Given the description of an element on the screen output the (x, y) to click on. 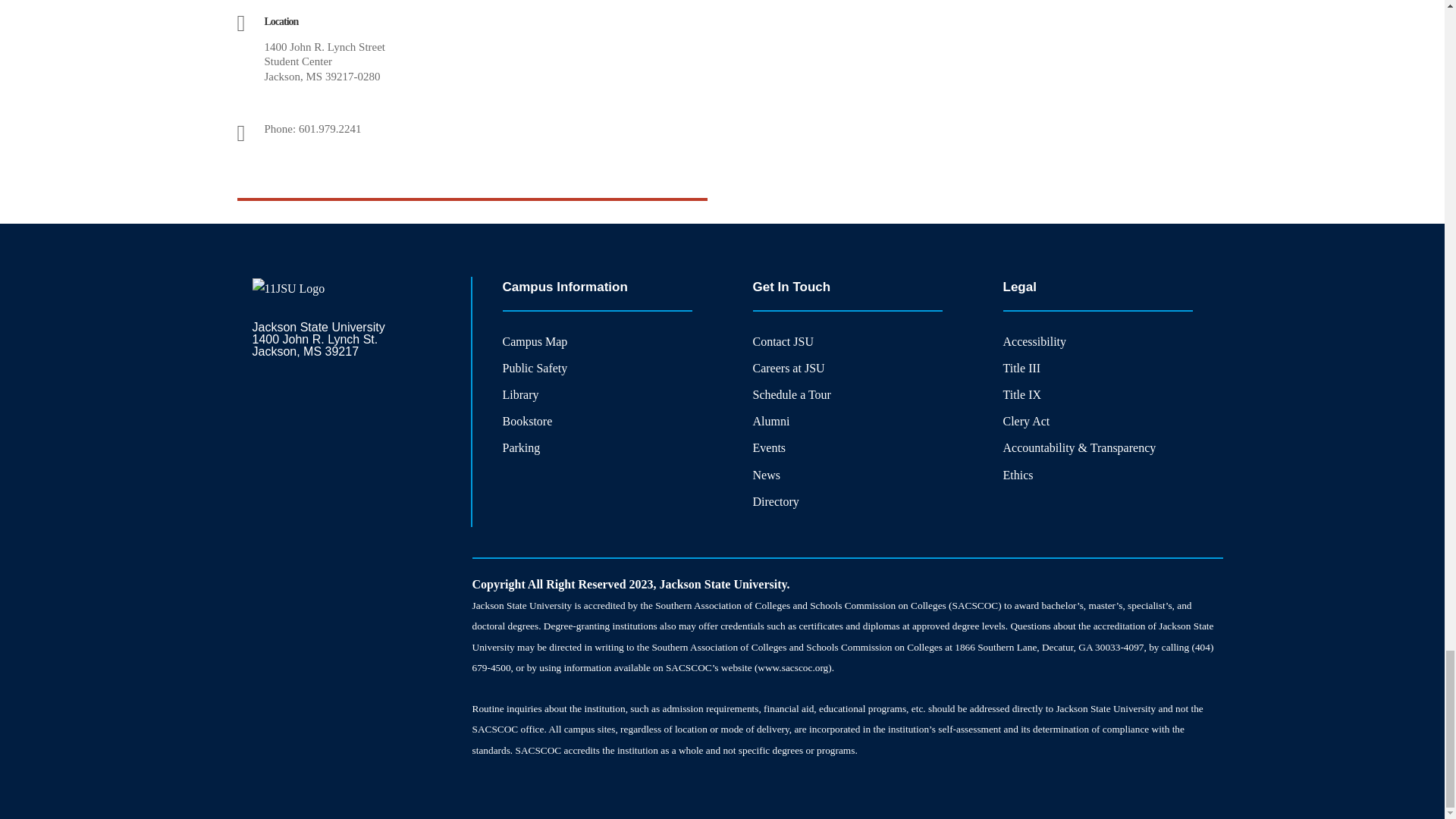
2logo (287, 288)
